Given the description of an element on the screen output the (x, y) to click on. 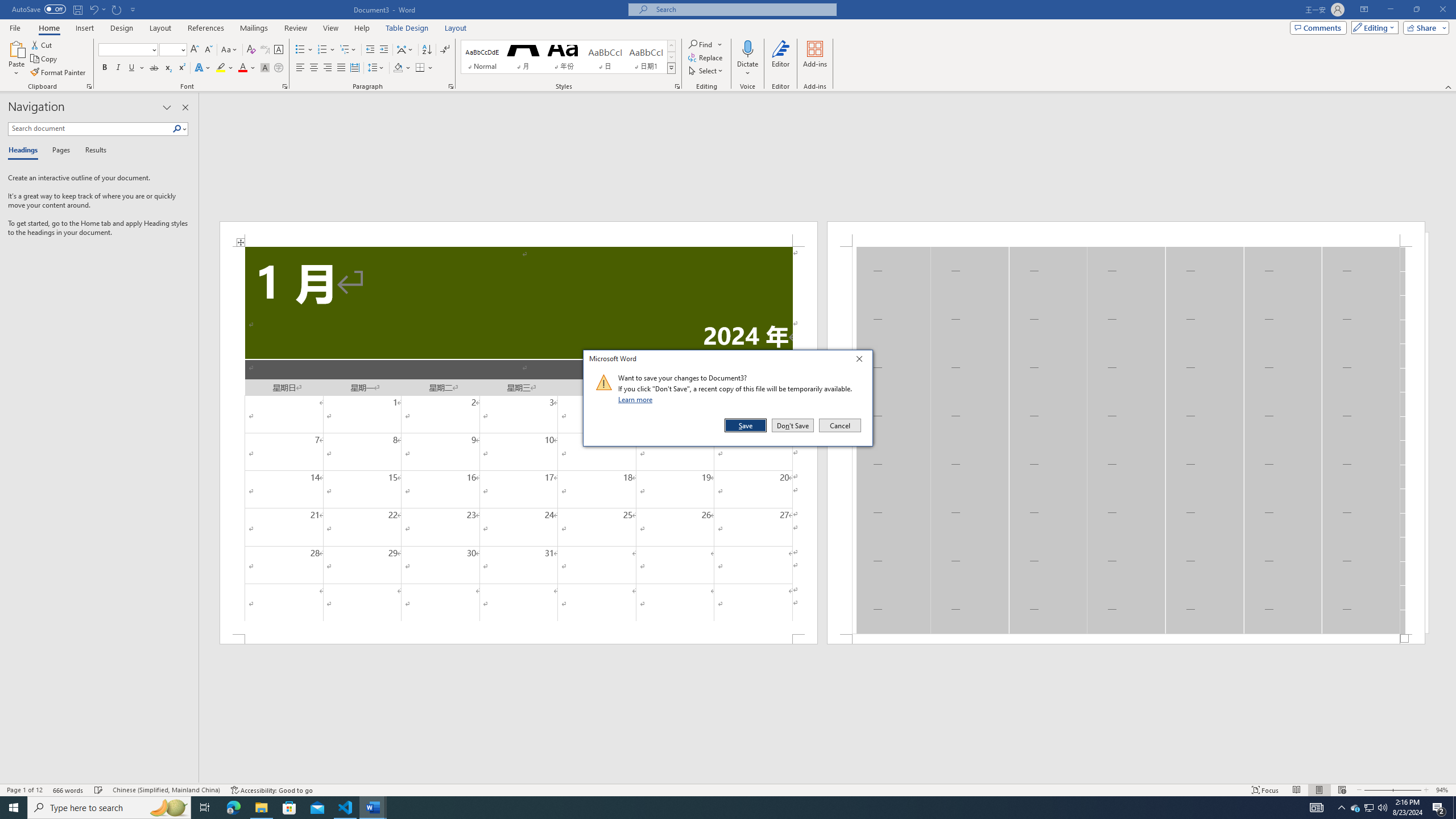
Repeat Style (117, 9)
Q2790: 100% (1382, 807)
Search highlights icon opens search home window (167, 807)
Page Number Page 1 of 12 (24, 790)
